Given the description of an element on the screen output the (x, y) to click on. 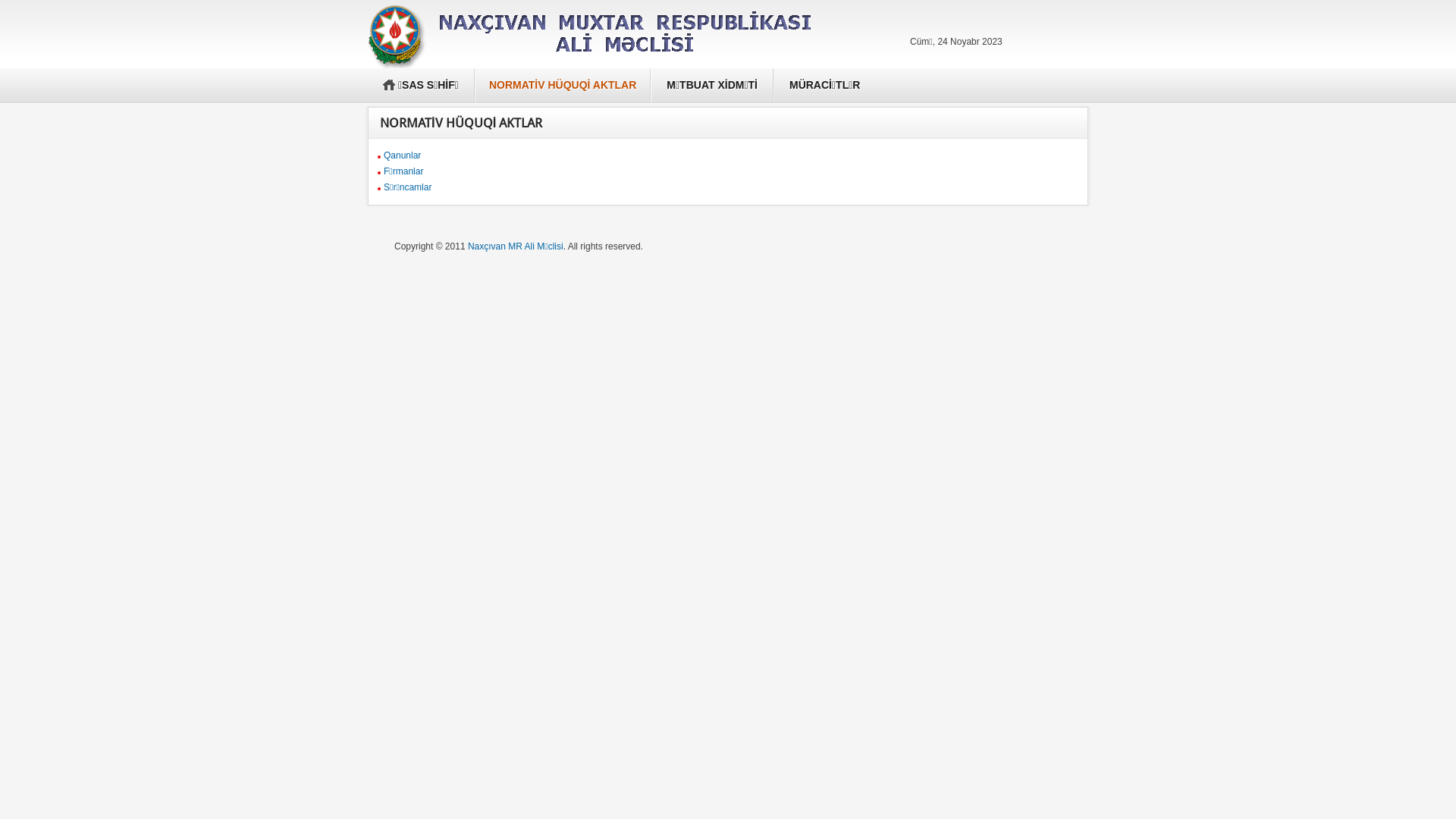
Qanunlar Element type: text (401, 155)
